Given the description of an element on the screen output the (x, y) to click on. 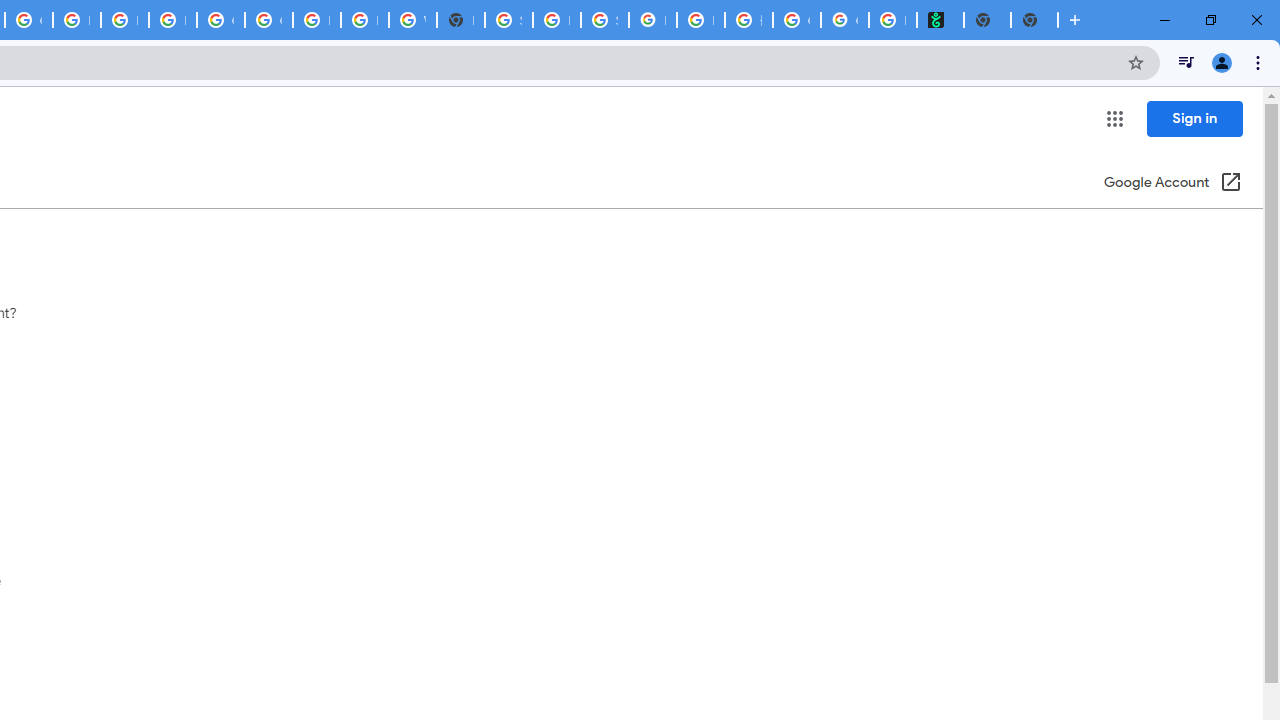
Browse Chrome as a guest - Computer - Google Chrome Help (316, 20)
New Tab (1034, 20)
